Given the description of an element on the screen output the (x, y) to click on. 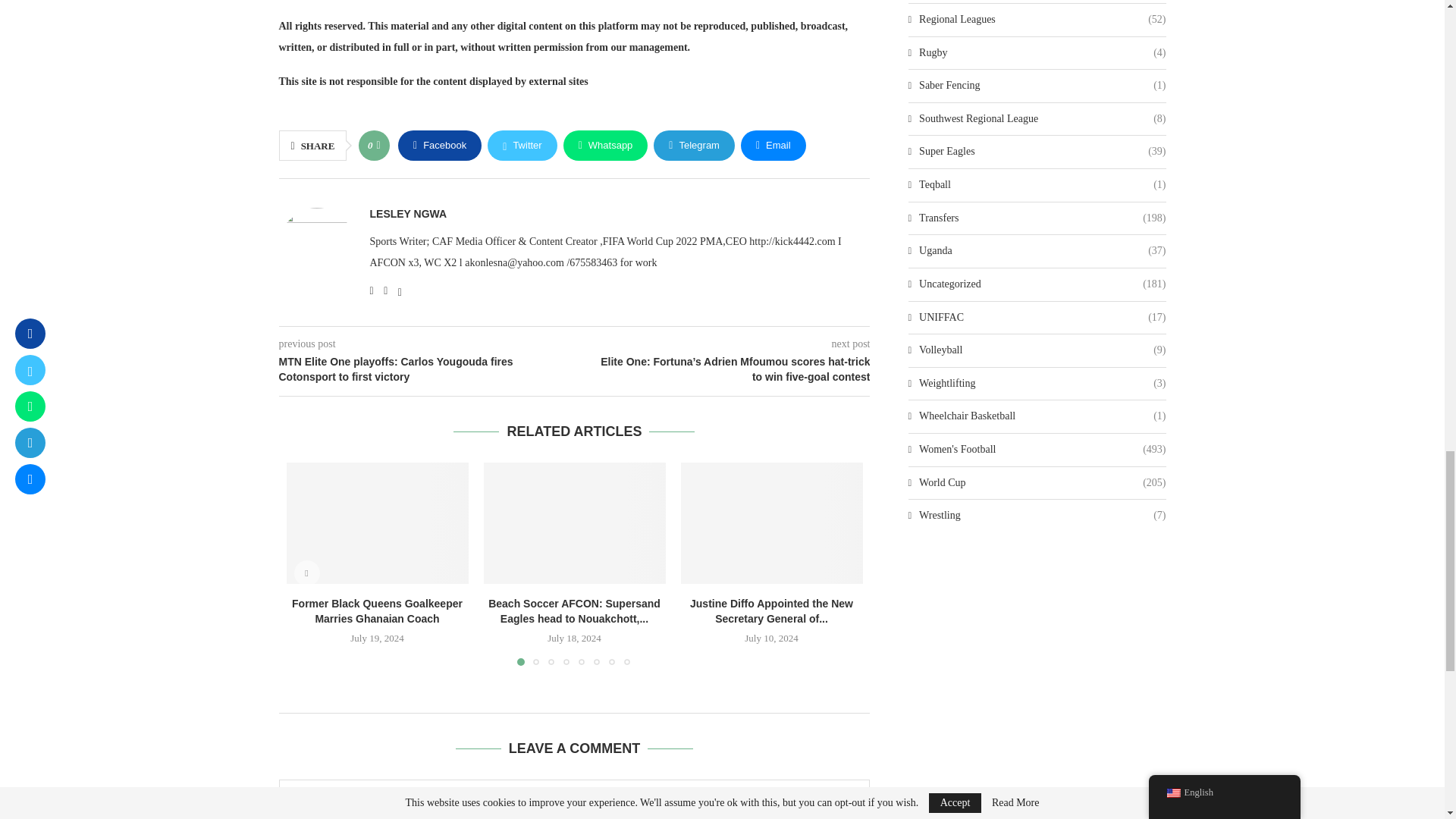
Former Black Queens Goalkeeper Marries Ghanaian Coach (377, 522)
Author Lesley Ngwa (407, 214)
